Given the description of an element on the screen output the (x, y) to click on. 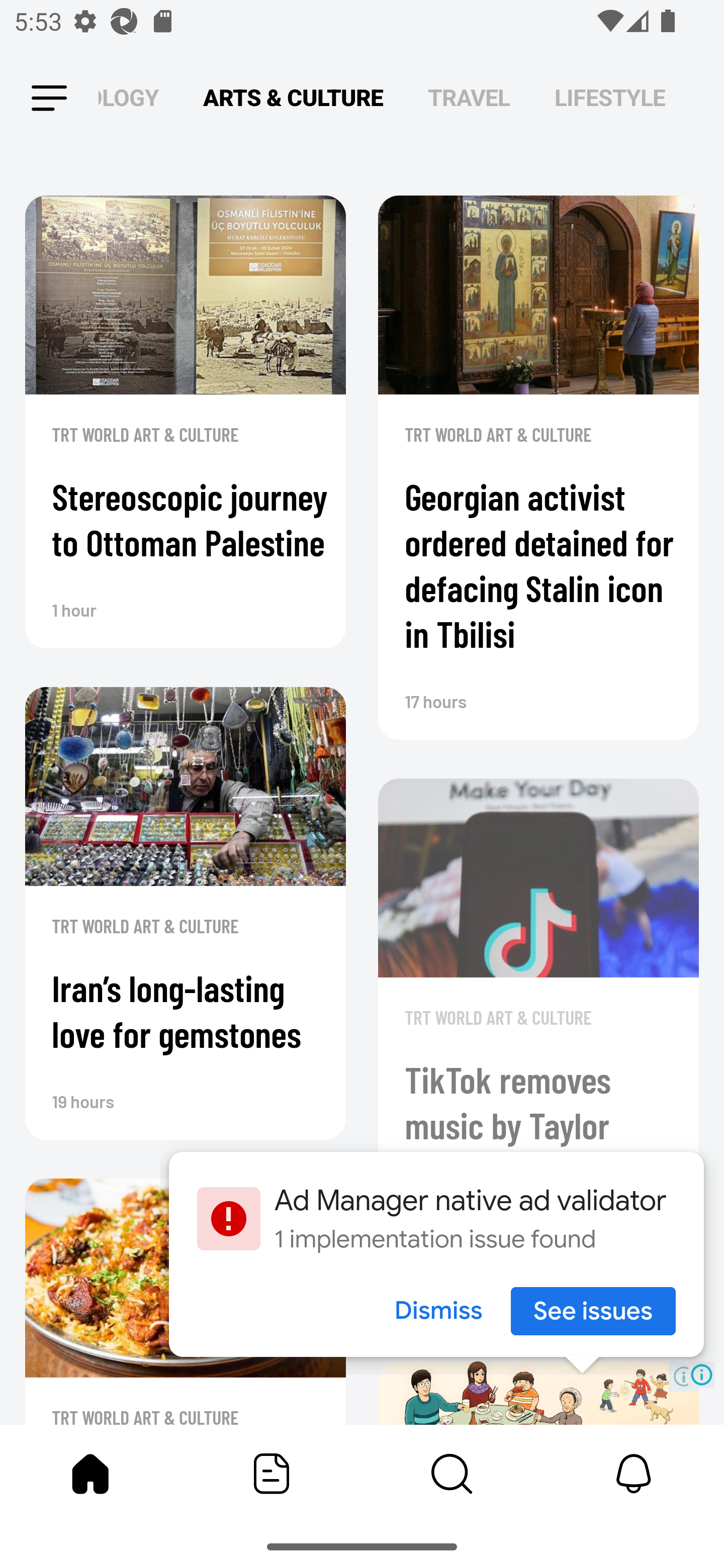
Leading Icon (49, 98)
TECHNOLOGY (128, 97)
TRAVEL (469, 97)
LIFESTYLE (609, 97)
Ad Choices Icon (701, 1374)
Featured (271, 1473)
Content Store (452, 1473)
Notifications (633, 1473)
